Given the description of an element on the screen output the (x, y) to click on. 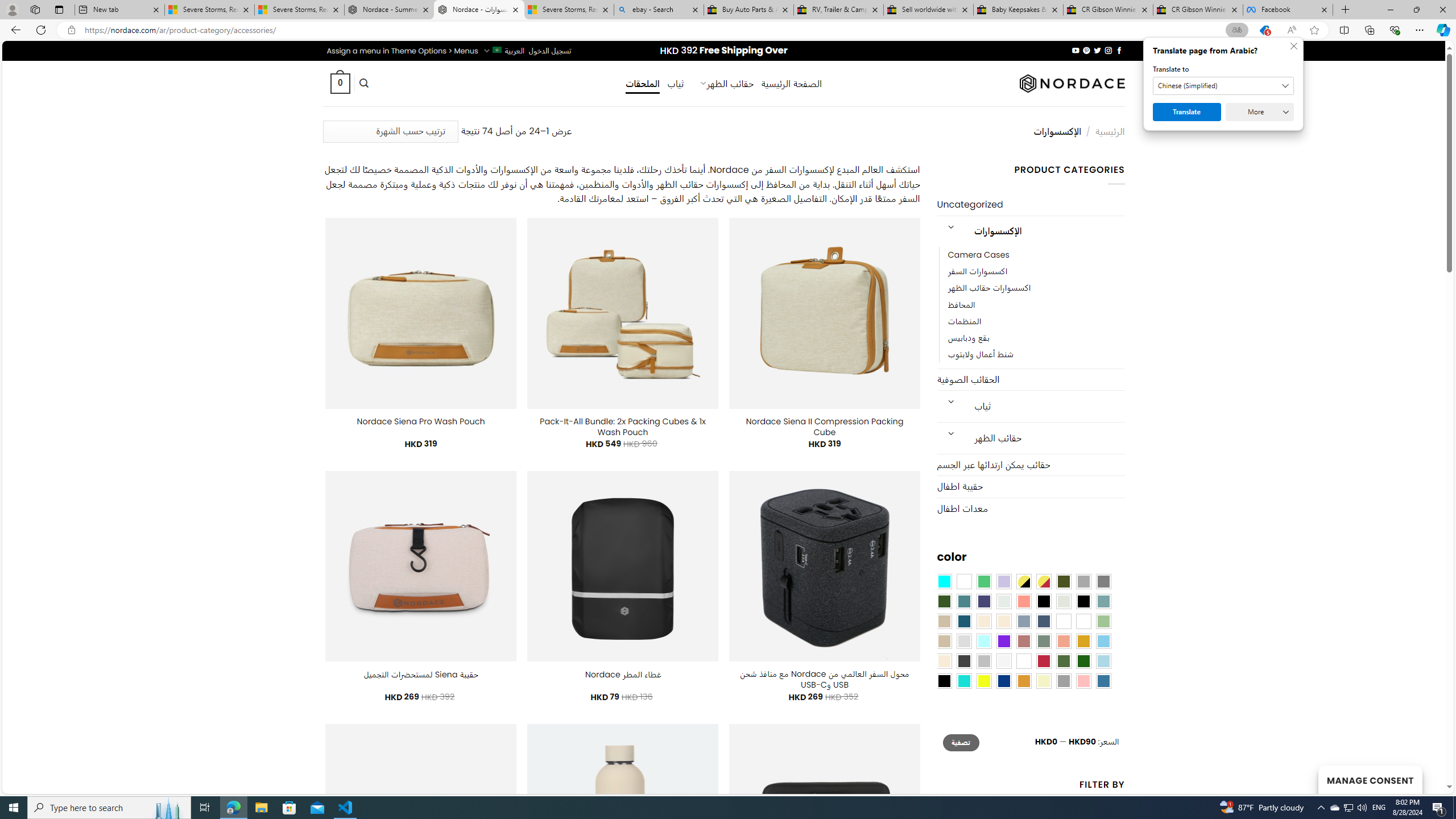
Baby Keepsakes & Announcements for sale | eBay (1018, 9)
Capri Blue (963, 621)
Nordace Siena II Compression Packing Cube (824, 427)
Forest (944, 601)
